Given the description of an element on the screen output the (x, y) to click on. 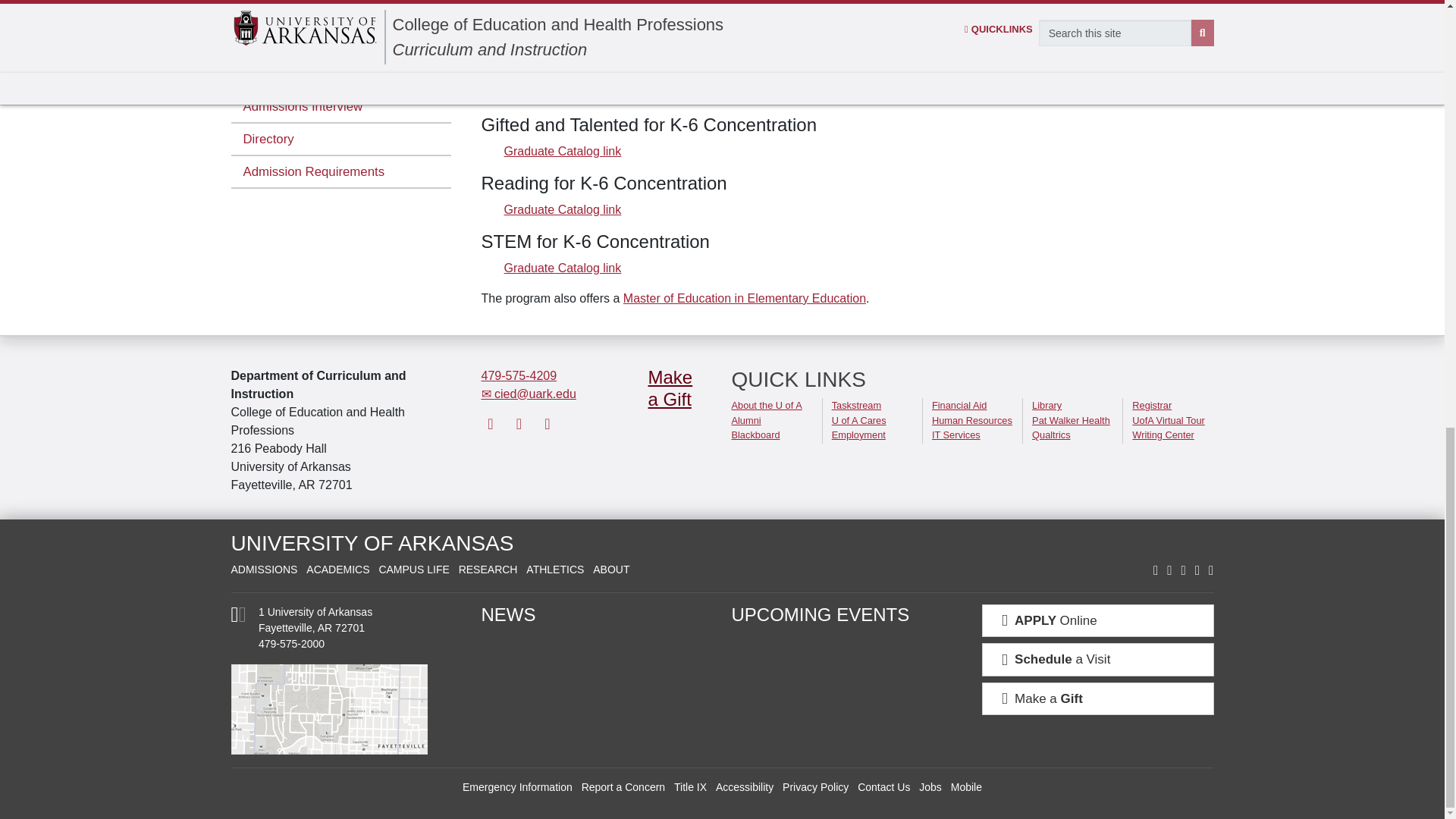
Arkansas Alumni (745, 419)
The Quality Writing Center (1162, 434)
UofA Libraries (1046, 405)
Human Resources (971, 419)
About the UofA (766, 405)
U of A Cares (858, 419)
Campus Virtual Tour (1168, 419)
Pat Walker Health Center (1070, 419)
University of Arkansas Home Page (371, 543)
Taskstream Login (855, 405)
